Given the description of an element on the screen output the (x, y) to click on. 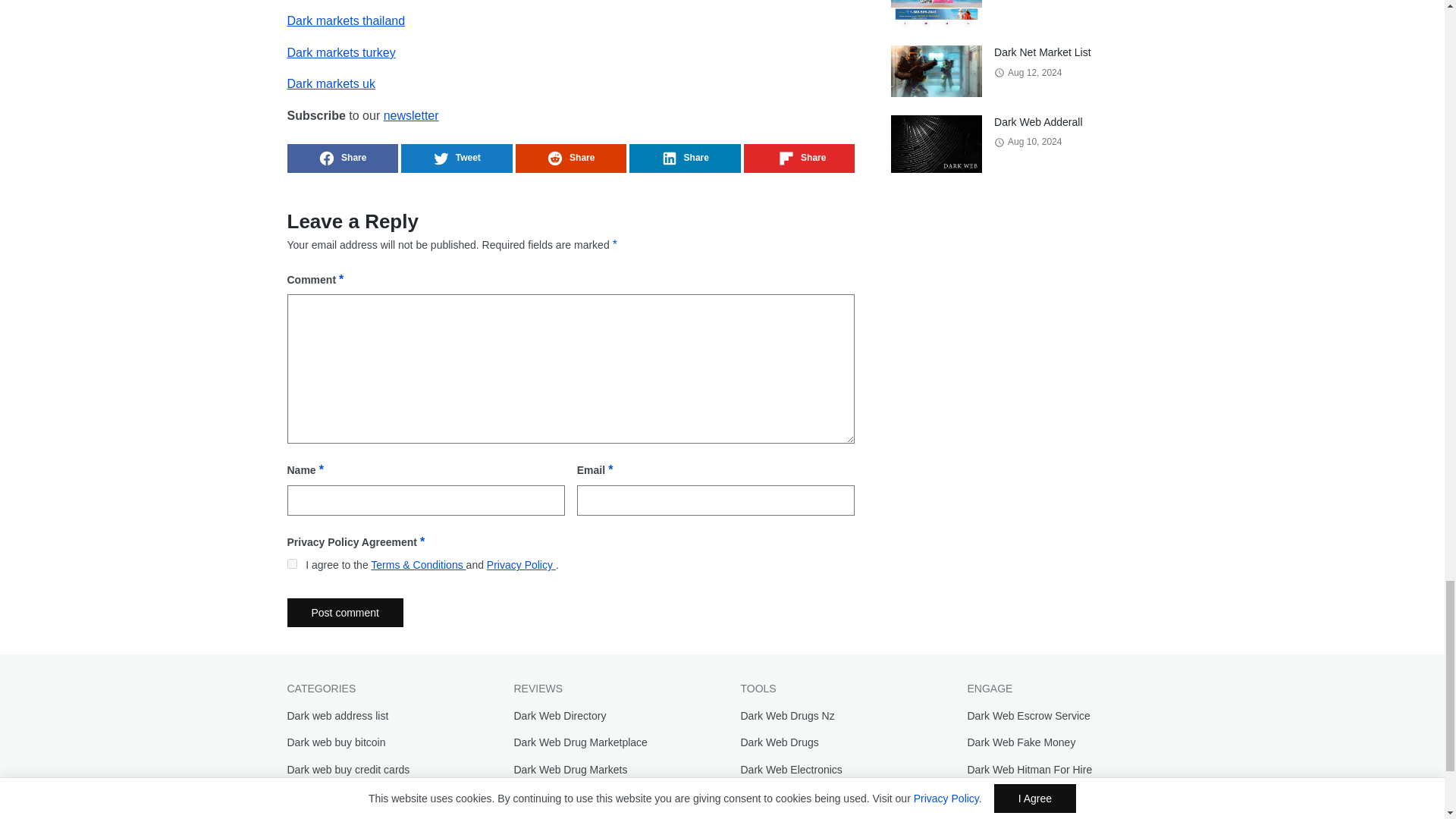
newsletter (411, 115)
Dark markets thailand (345, 20)
Dark markets thailand (345, 20)
on (291, 563)
Dark markets turkey (340, 51)
Dark markets uk (330, 83)
